Given the description of an element on the screen output the (x, y) to click on. 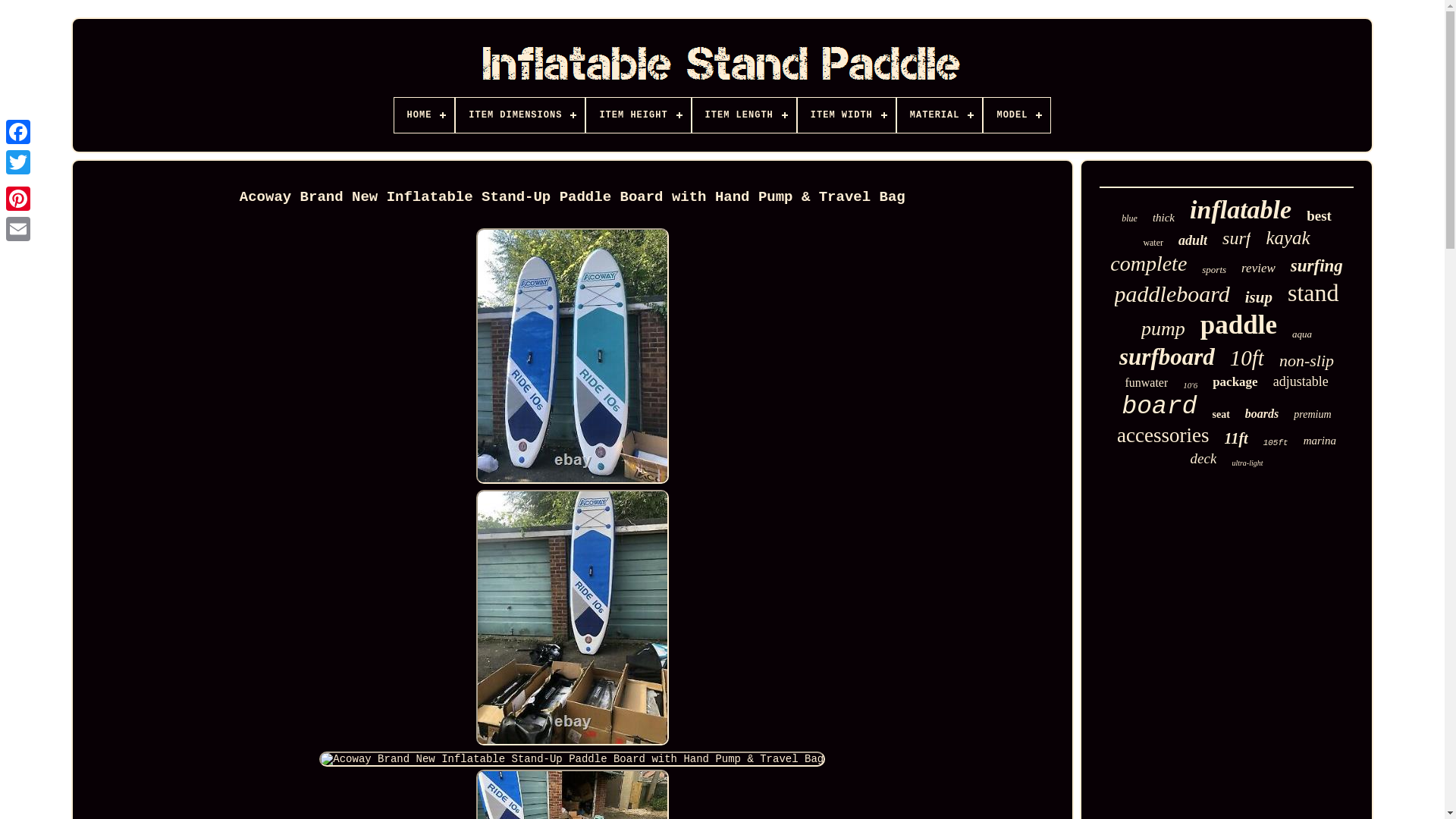
ITEM WIDTH (846, 114)
HOME (424, 114)
ITEM LENGTH (744, 114)
ITEM HEIGHT (638, 114)
ITEM DIMENSIONS (520, 114)
